Given the description of an element on the screen output the (x, y) to click on. 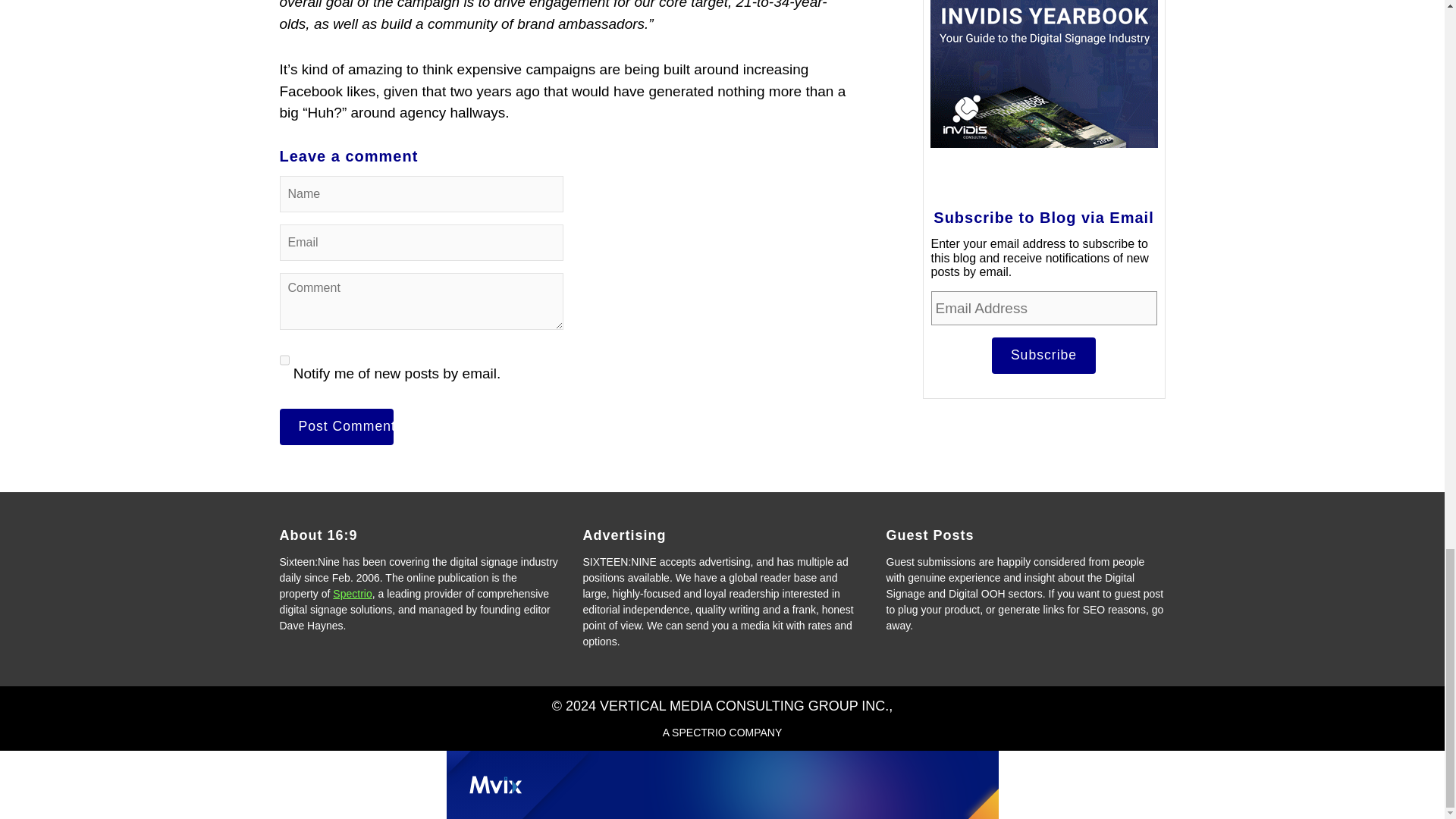
Subscribe (1043, 355)
Spectrio (352, 593)
A SPECTRIO COMPANY (721, 732)
Post Comment (336, 426)
Post Comment (336, 426)
